Given the description of an element on the screen output the (x, y) to click on. 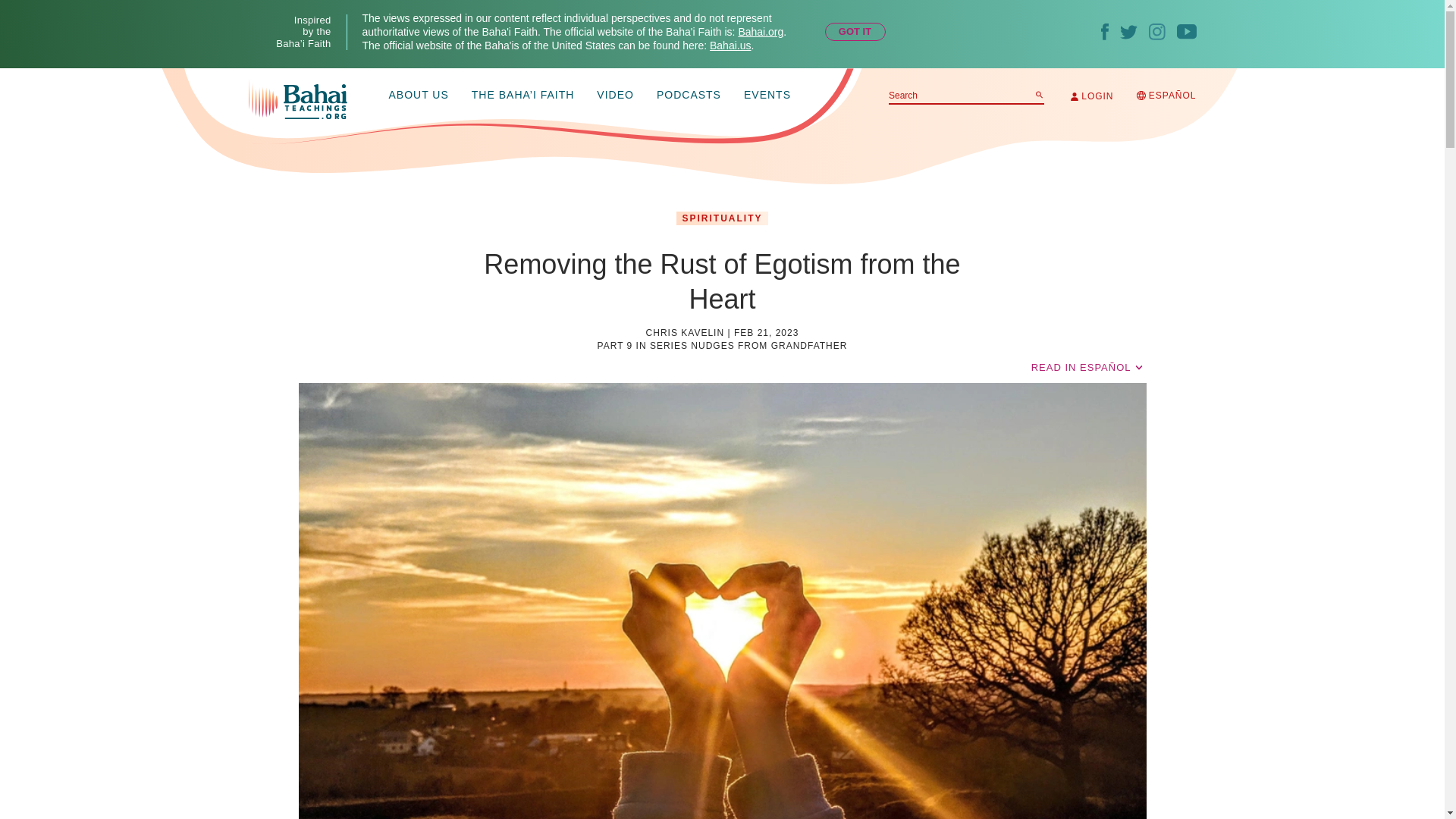
Bahai.us (730, 45)
GOT IT (855, 31)
Search (1038, 94)
PODCASTS (688, 96)
NUDGES FROM GRANDFATHER (768, 345)
VIDEO (614, 96)
ABOUT US (418, 96)
SPIRITUALITY (722, 218)
LOGIN (1092, 95)
Search for: (965, 95)
EVENTS (767, 96)
Bahai.org (760, 31)
